Given the description of an element on the screen output the (x, y) to click on. 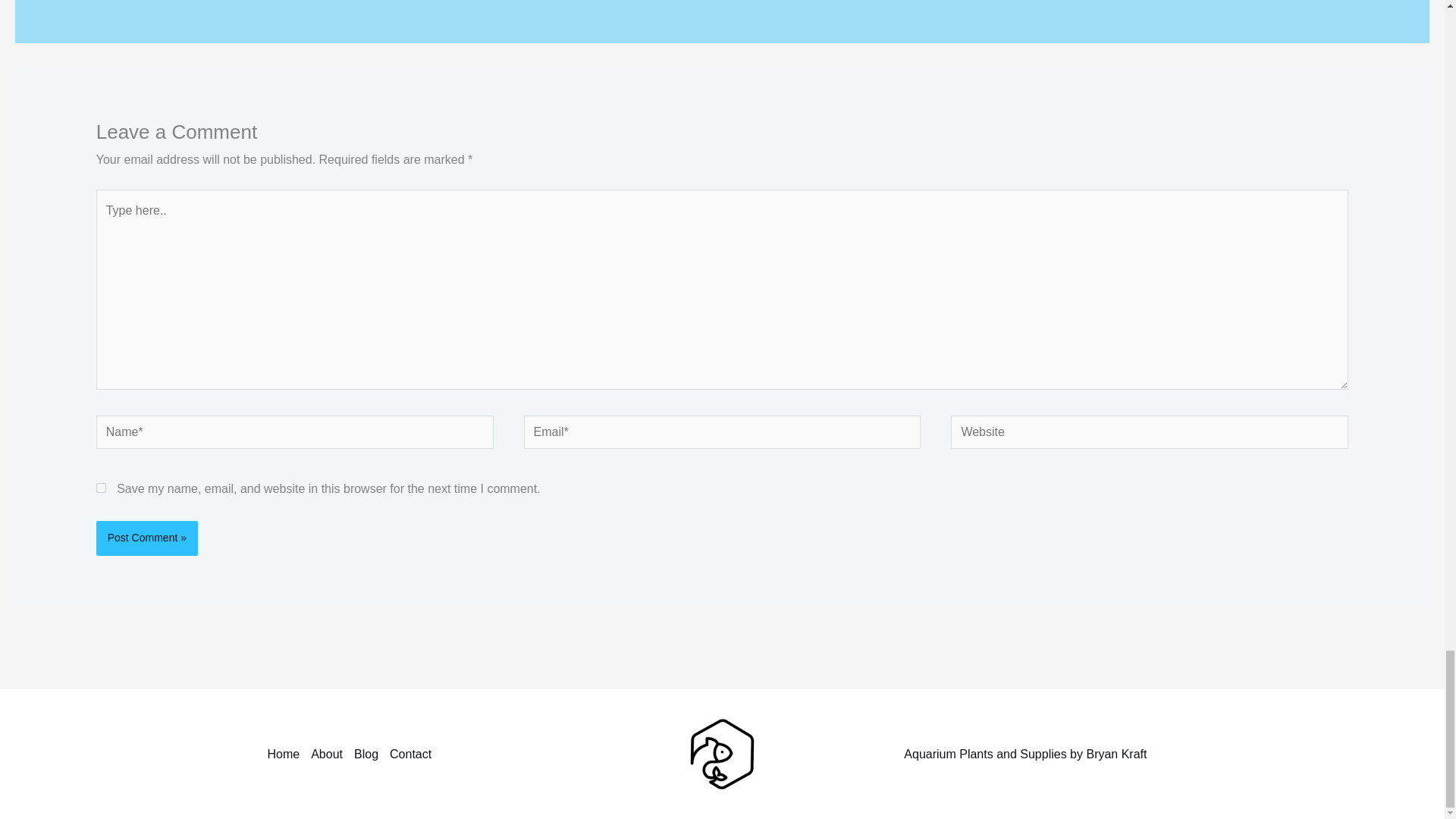
yes (101, 488)
